Given the description of an element on the screen output the (x, y) to click on. 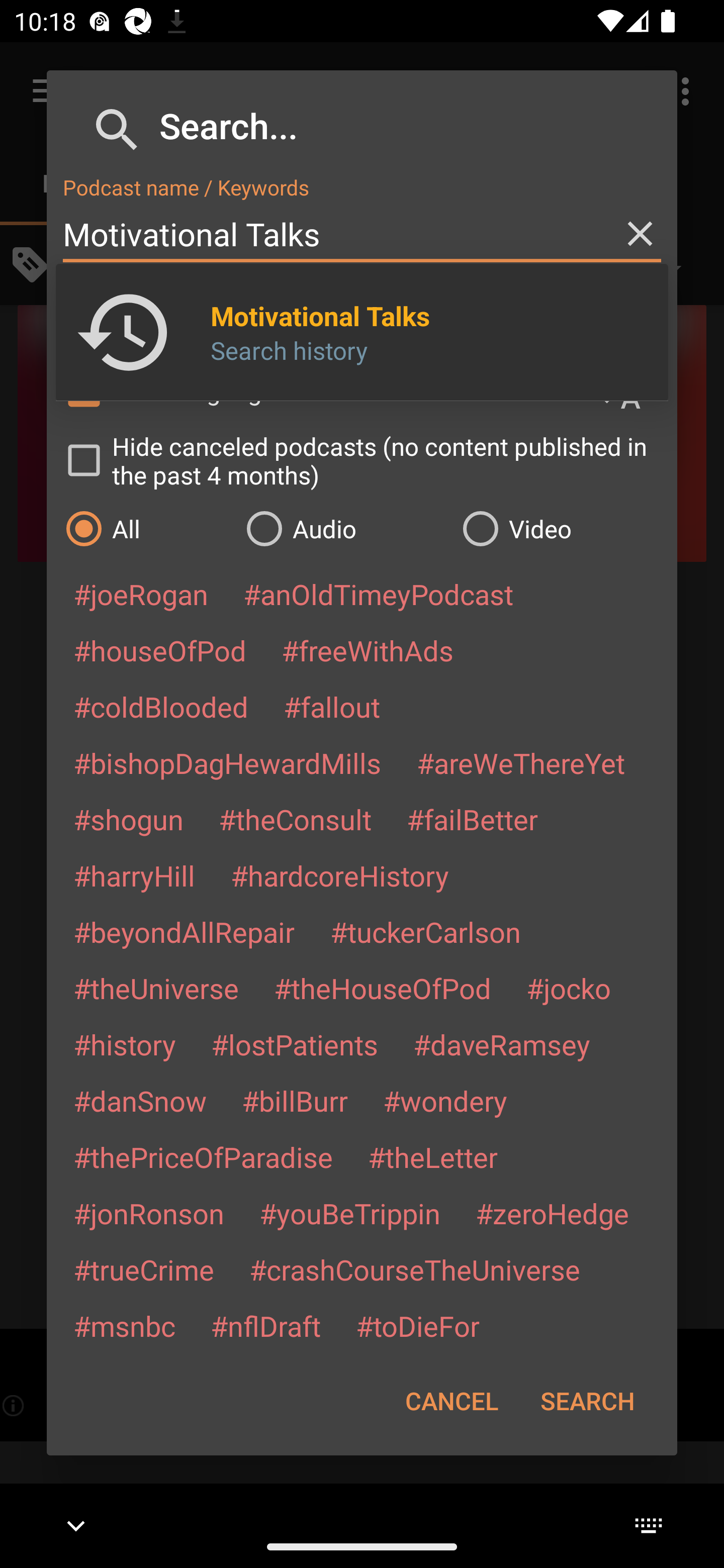
Motivational Talks (361, 234)
All (145, 528)
Audio (344, 528)
Video (560, 528)
#joeRogan (140, 594)
#anOldTimeyPodcast (378, 594)
#houseOfPod (159, 650)
#freeWithAds (367, 650)
#coldBlooded (160, 705)
#fallout (331, 705)
#bishopDagHewardMills (227, 762)
#areWeThereYet (521, 762)
#shogun (128, 818)
#theConsult (294, 818)
#failBetter (471, 818)
#harryHill (134, 875)
#hardcoreHistory (339, 875)
#beyondAllRepair (184, 931)
#tuckerCarlson (425, 931)
#theUniverse (155, 987)
#theHouseOfPod (381, 987)
#jocko (568, 987)
#history (124, 1044)
#lostPatients (294, 1044)
#daveRamsey (501, 1044)
#danSnow (139, 1100)
#billBurr (294, 1100)
#wondery (444, 1100)
#thePriceOfParadise (203, 1157)
#theLetter (432, 1157)
#jonRonson (148, 1213)
#youBeTrippin (349, 1213)
#zeroHedge (552, 1213)
#trueCrime (143, 1268)
#crashCourseTheUniverse (414, 1268)
#msnbc (124, 1325)
#nflDraft (265, 1325)
#toDieFor (417, 1325)
CANCEL (451, 1400)
SEARCH (587, 1400)
